Given the description of an element on the screen output the (x, y) to click on. 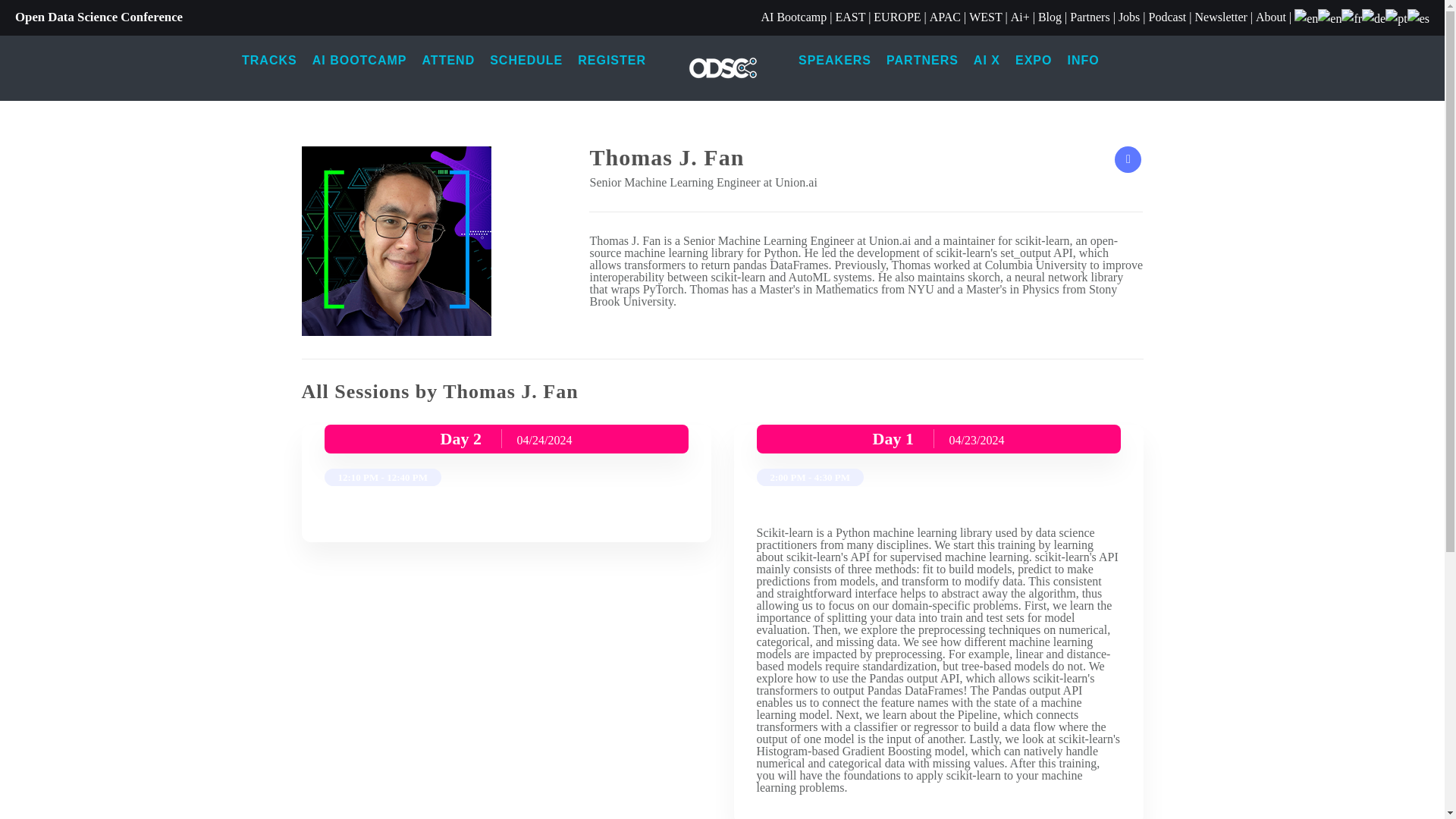
Blog (1049, 16)
WEST (985, 16)
Newsletter (1221, 16)
TRACKS (269, 60)
Partners (1089, 16)
EUROPE (896, 16)
EUROPE (896, 16)
Jobs (1129, 16)
AI BOOTCAMP (359, 60)
Blog (1049, 16)
